Given the description of an element on the screen output the (x, y) to click on. 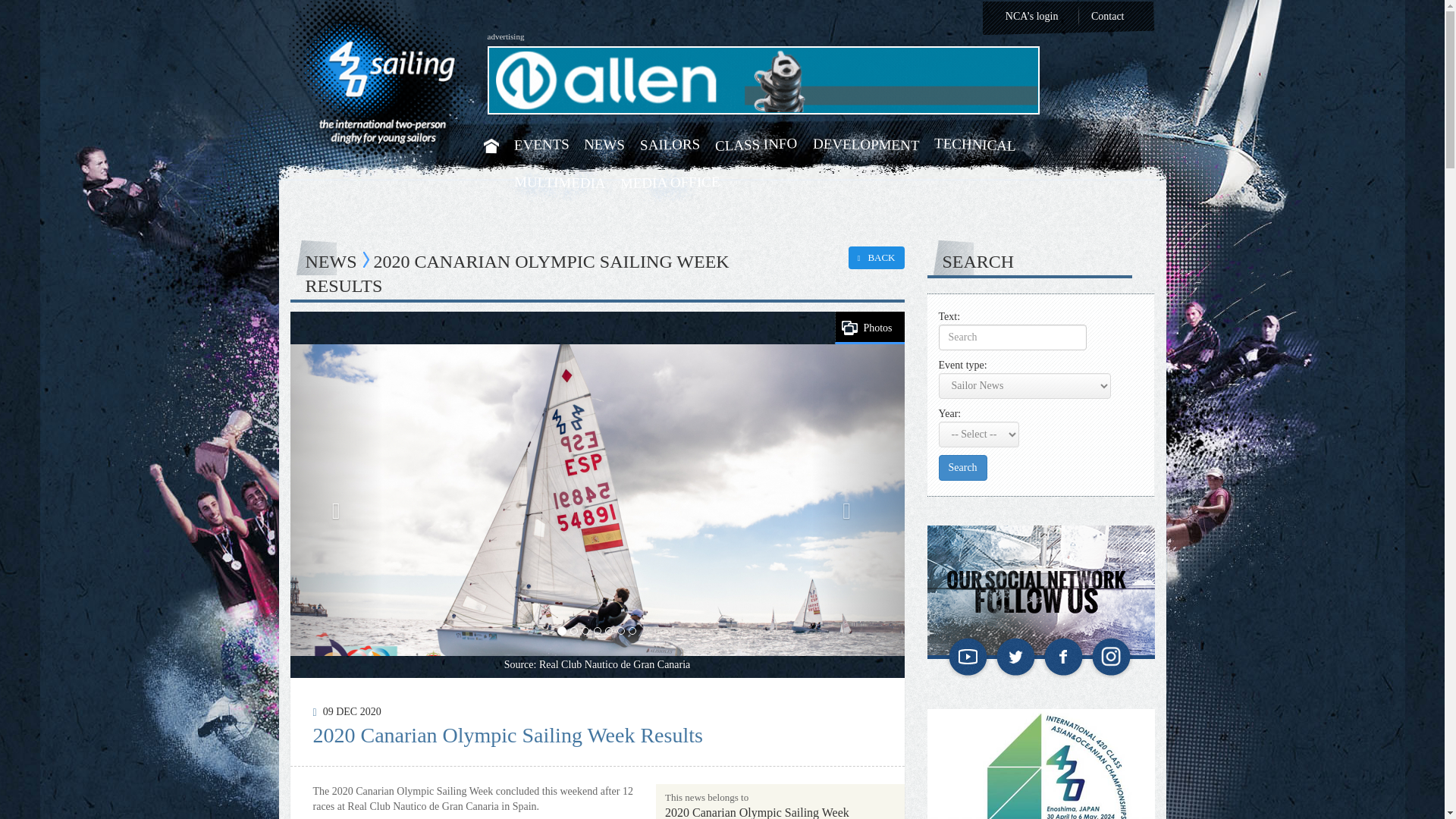
EVENTS (540, 143)
CLASS INFO (756, 142)
Search (963, 467)
SAILORS (669, 143)
Contact (1107, 16)
NEWS (603, 143)
